Given the description of an element on the screen output the (x, y) to click on. 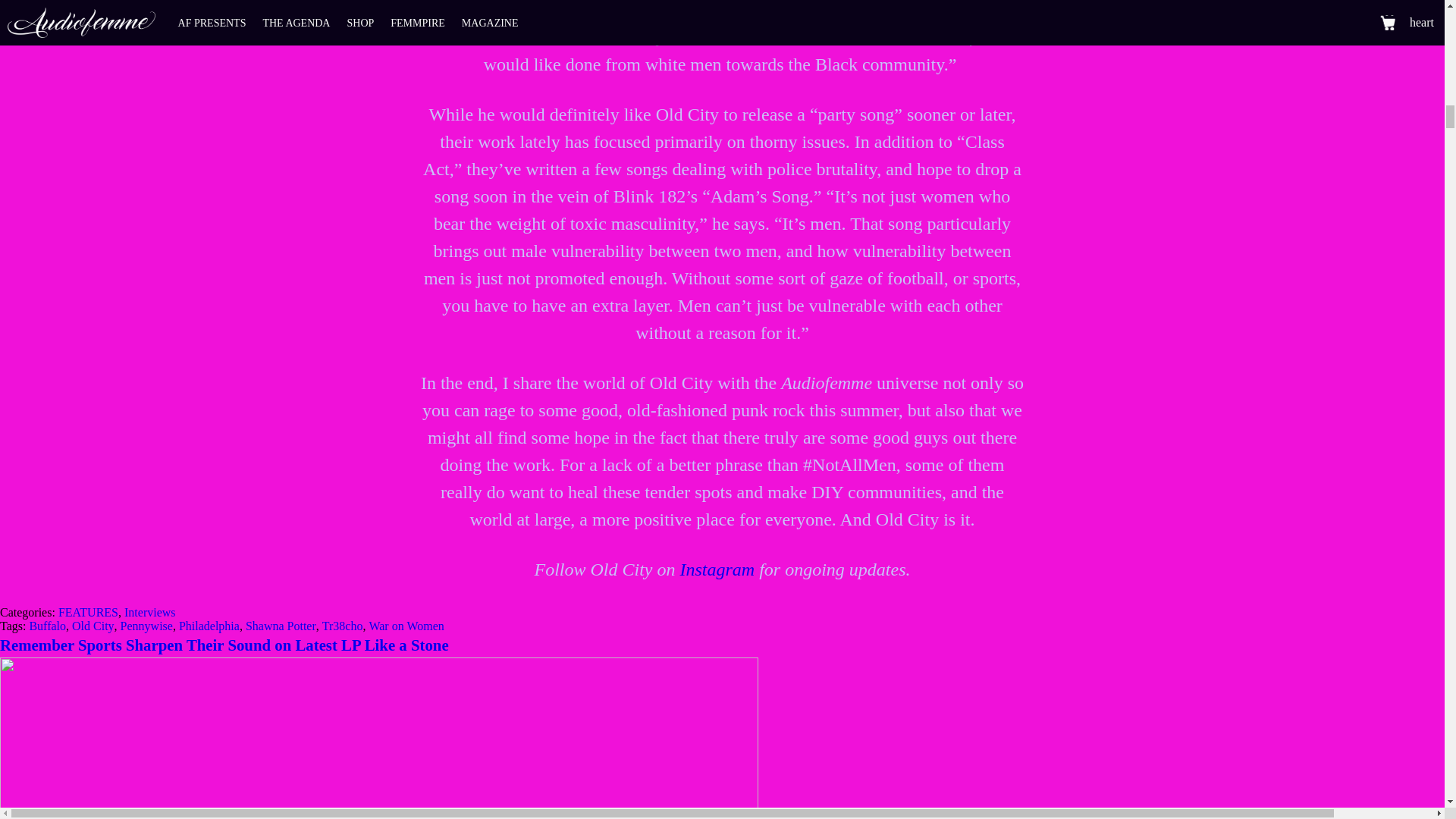
Old City (93, 625)
Buffalo (47, 625)
FEATURES (87, 612)
Interviews (149, 612)
Instagram (716, 569)
